Given the description of an element on the screen output the (x, y) to click on. 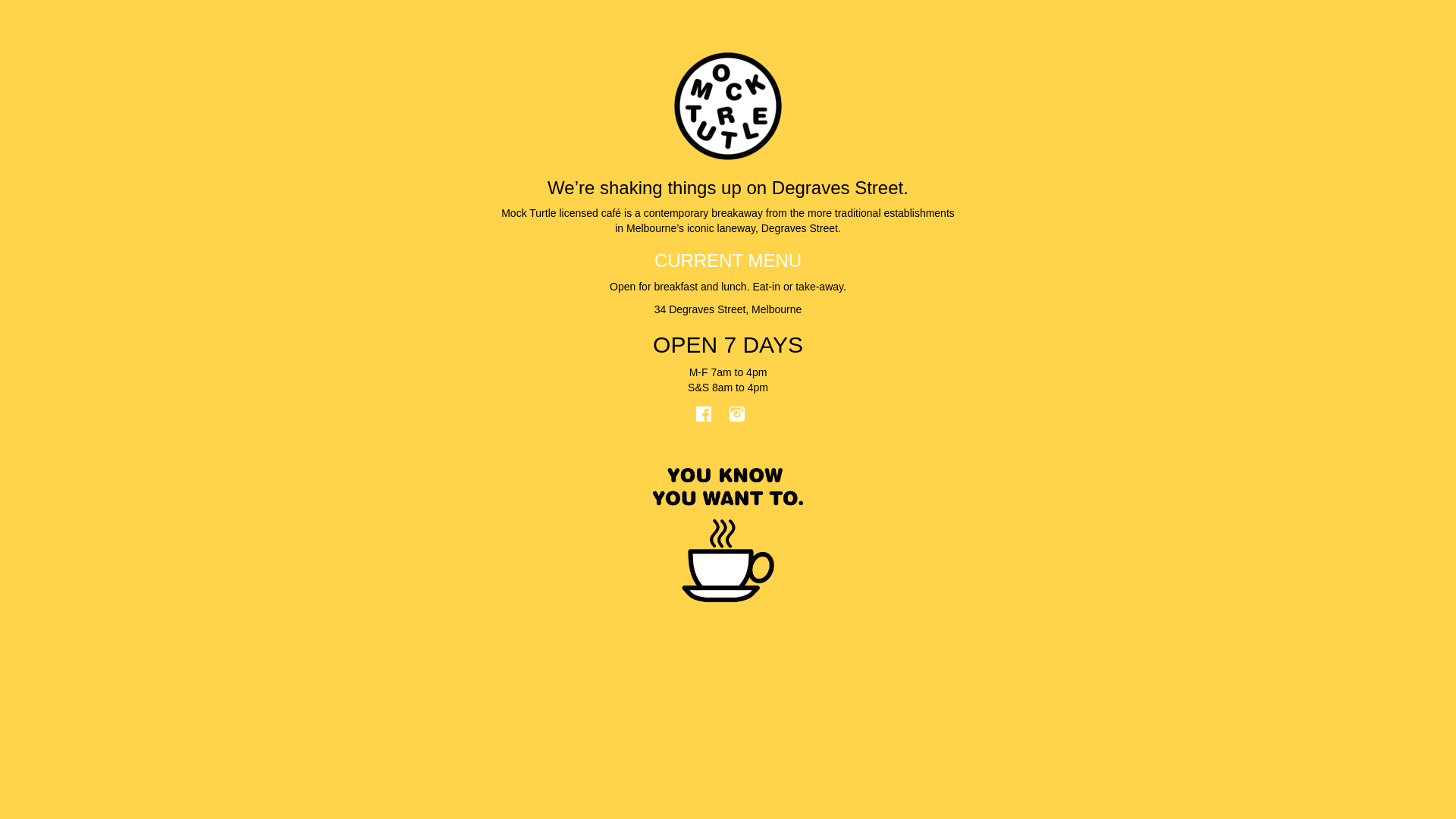
CURRENT MENU Element type: text (727, 260)
  Element type: text (712, 418)
